Given the description of an element on the screen output the (x, y) to click on. 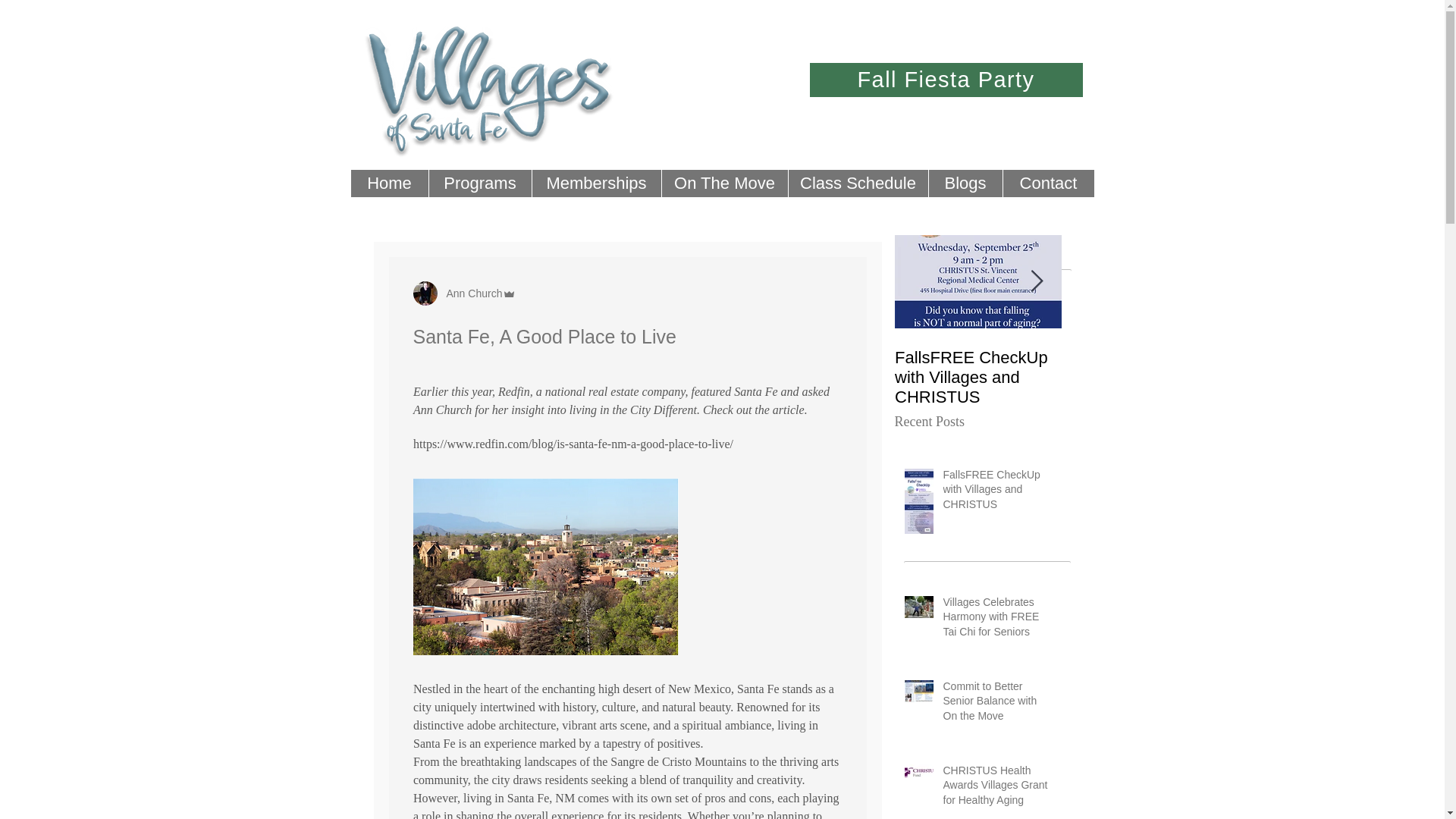
Villages Celebrates Harmony with FREE Tai Chi for Seniors (1144, 377)
Blogs (965, 183)
Programs (479, 183)
living in Santa Fe, NM (518, 798)
Commit to Better Senior Balance with On the Move (1311, 377)
Contact (1048, 183)
Home (389, 183)
CHRISTUS Health Awards Villages Grant for Healthy Aging (997, 788)
Memberships (596, 183)
Fall Fiesta Party (946, 80)
VillagesTitle144.png (490, 93)
Commit to Better Senior Balance with On the Move (997, 704)
Class Schedule (857, 183)
On The Move (724, 183)
FallsFREE CheckUp with Villages and CHRISTUS (978, 377)
